Given the description of an element on the screen output the (x, y) to click on. 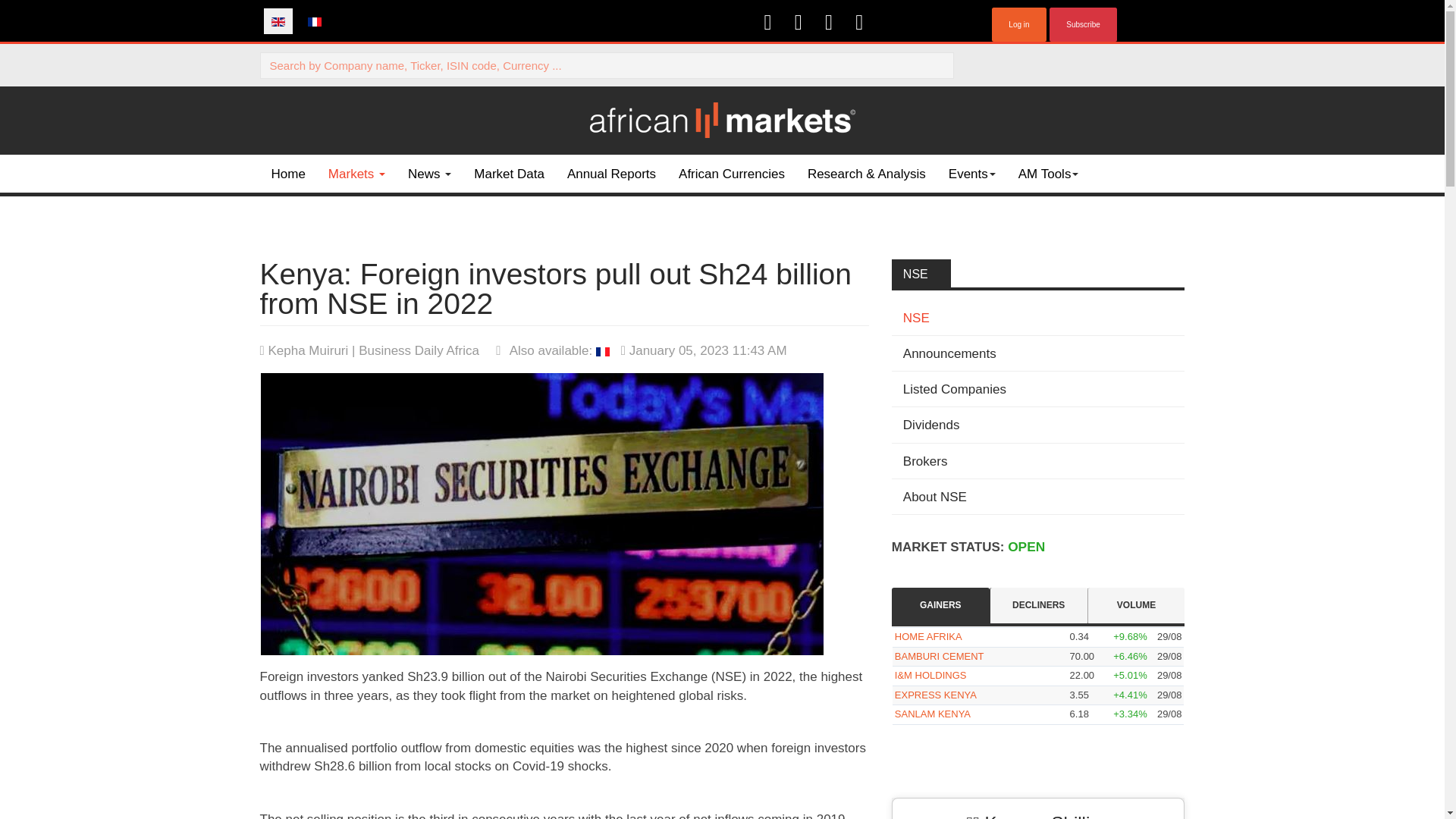
Log in (1018, 24)
Decliners (1037, 604)
Gainers (940, 604)
Subscribe (1082, 24)
Volume (1136, 604)
african markets (722, 120)
